Given the description of an element on the screen output the (x, y) to click on. 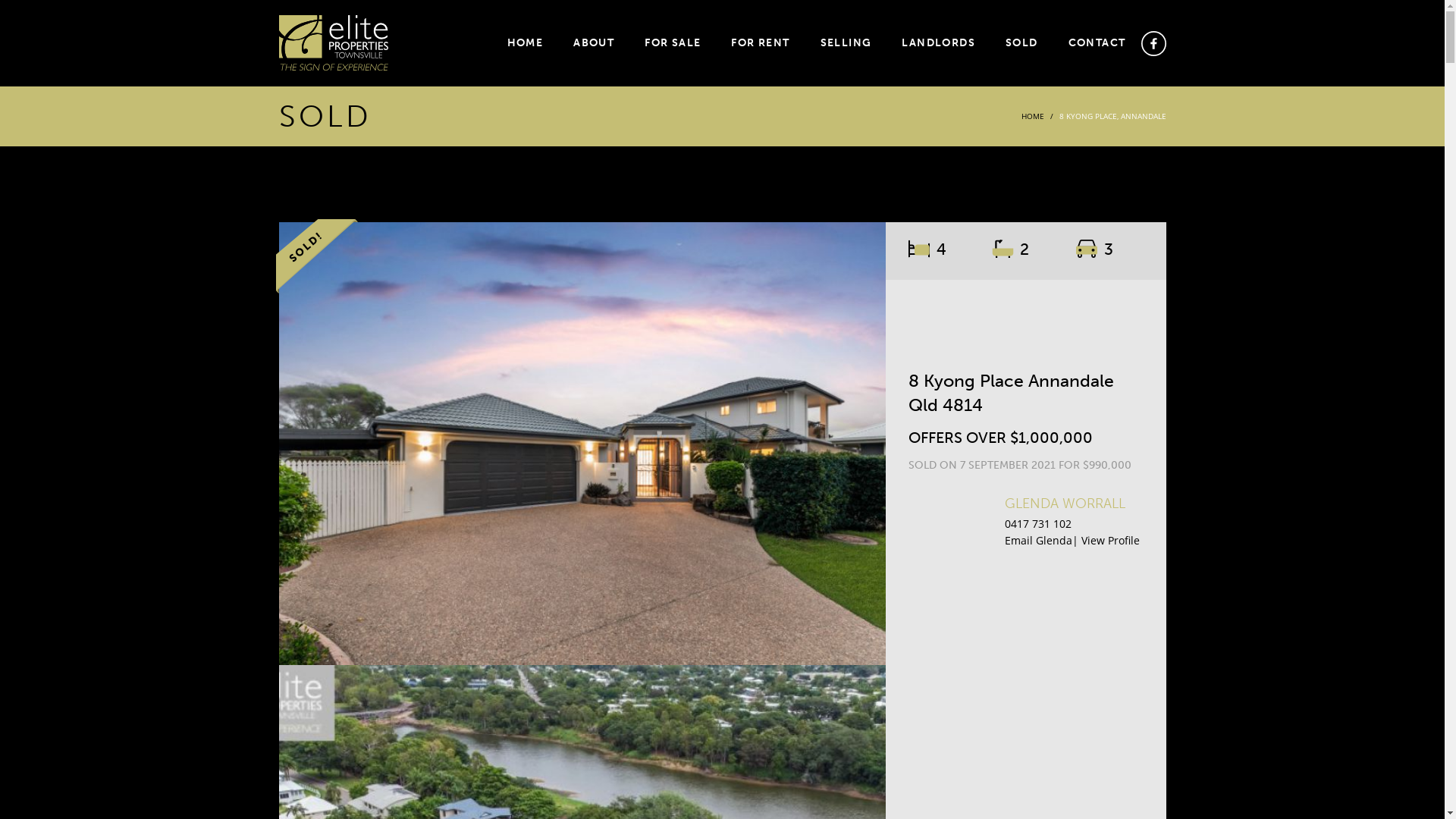
elite-logo Element type: text (333, 44)
HOME Element type: text (1031, 115)
SOLD Element type: text (1021, 43)
facebook Element type: text (1152, 45)
Email Glenda Element type: text (1037, 540)
FOR RENT Element type: text (760, 43)
View Profile Element type: text (1110, 540)
FOR SALE Element type: text (672, 43)
LANDLORDS Element type: text (938, 43)
HOME Element type: text (525, 43)
0417 731 102 Element type: text (1037, 523)
CONTACT Element type: text (1096, 43)
ABOUT Element type: text (593, 43)
SELLING Element type: text (845, 43)
